Given the description of an element on the screen output the (x, y) to click on. 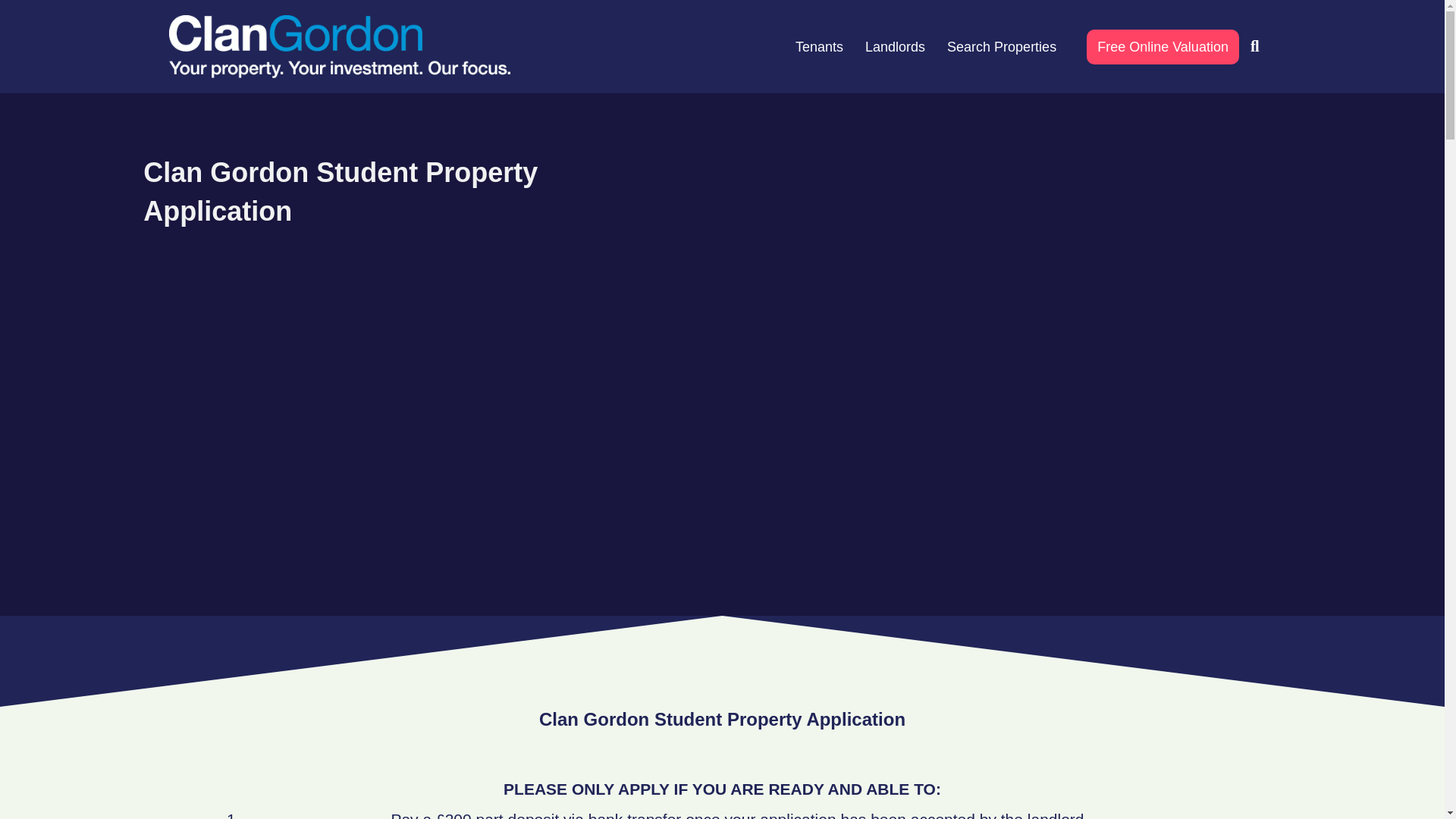
Search Properties (1001, 46)
Free Online Valuation (1162, 46)
Search (1258, 46)
clan Gordon (338, 46)
Tenants (818, 46)
Landlords (895, 46)
